Given the description of an element on the screen output the (x, y) to click on. 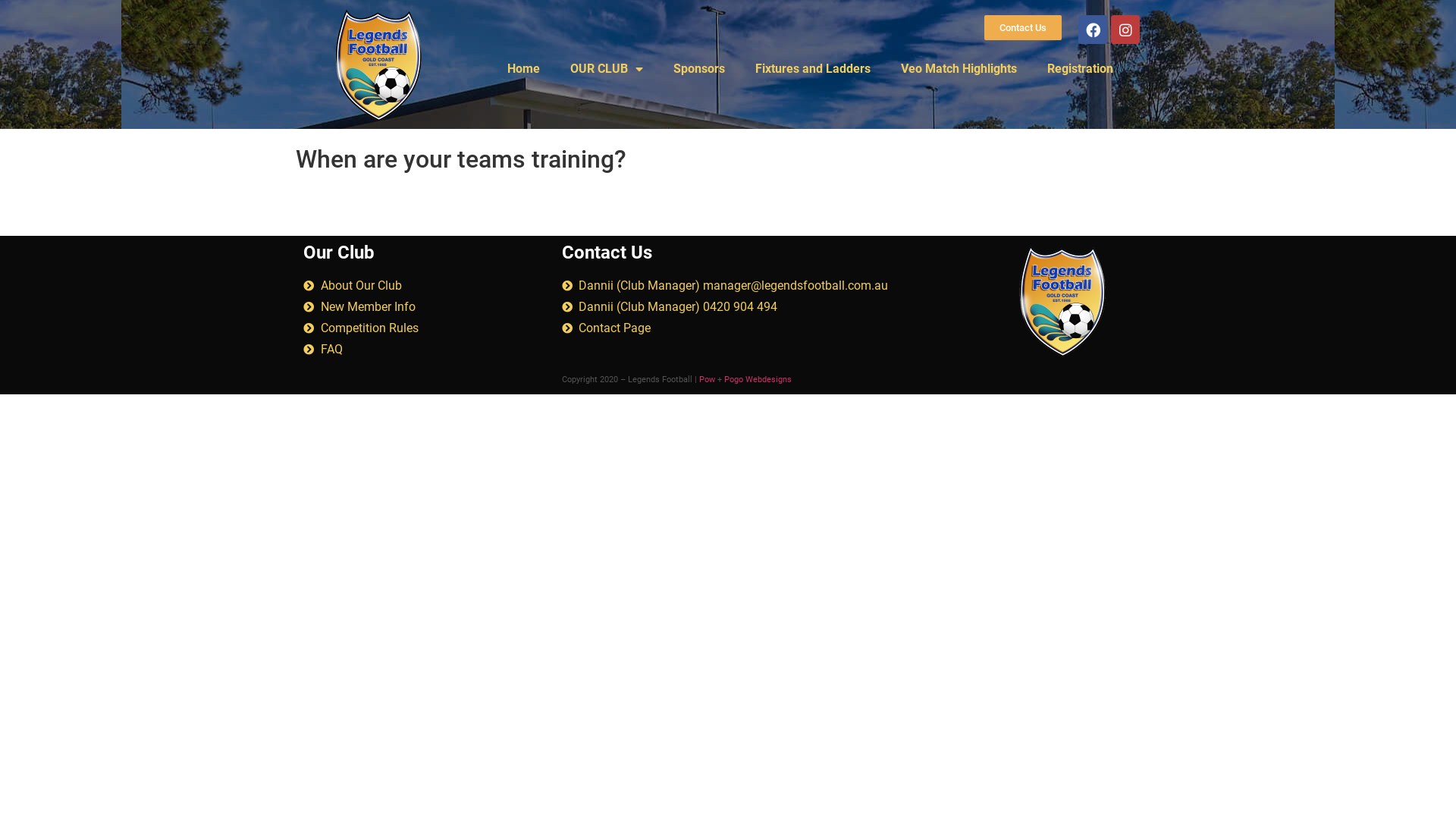
Sponsors Element type: text (699, 68)
Registration Element type: text (1080, 68)
Home Element type: text (523, 68)
Pogo Element type: text (733, 379)
Competition Rules Element type: text (424, 328)
Pow Element type: text (707, 379)
Dannii (Club Manager) manager@legendsfootball.com.au Element type: text (763, 285)
FAQ Element type: text (424, 349)
Dannii (Club Manager) 0420 904 494 Element type: text (763, 307)
Webdesigns Element type: text (768, 379)
Veo Match Highlights Element type: text (958, 68)
Contact Us Element type: text (1022, 27)
Contact Page Element type: text (763, 328)
OUR CLUB Element type: text (606, 68)
Fixtures and Ladders Element type: text (812, 68)
New Member Info Element type: text (424, 307)
